Given the description of an element on the screen output the (x, y) to click on. 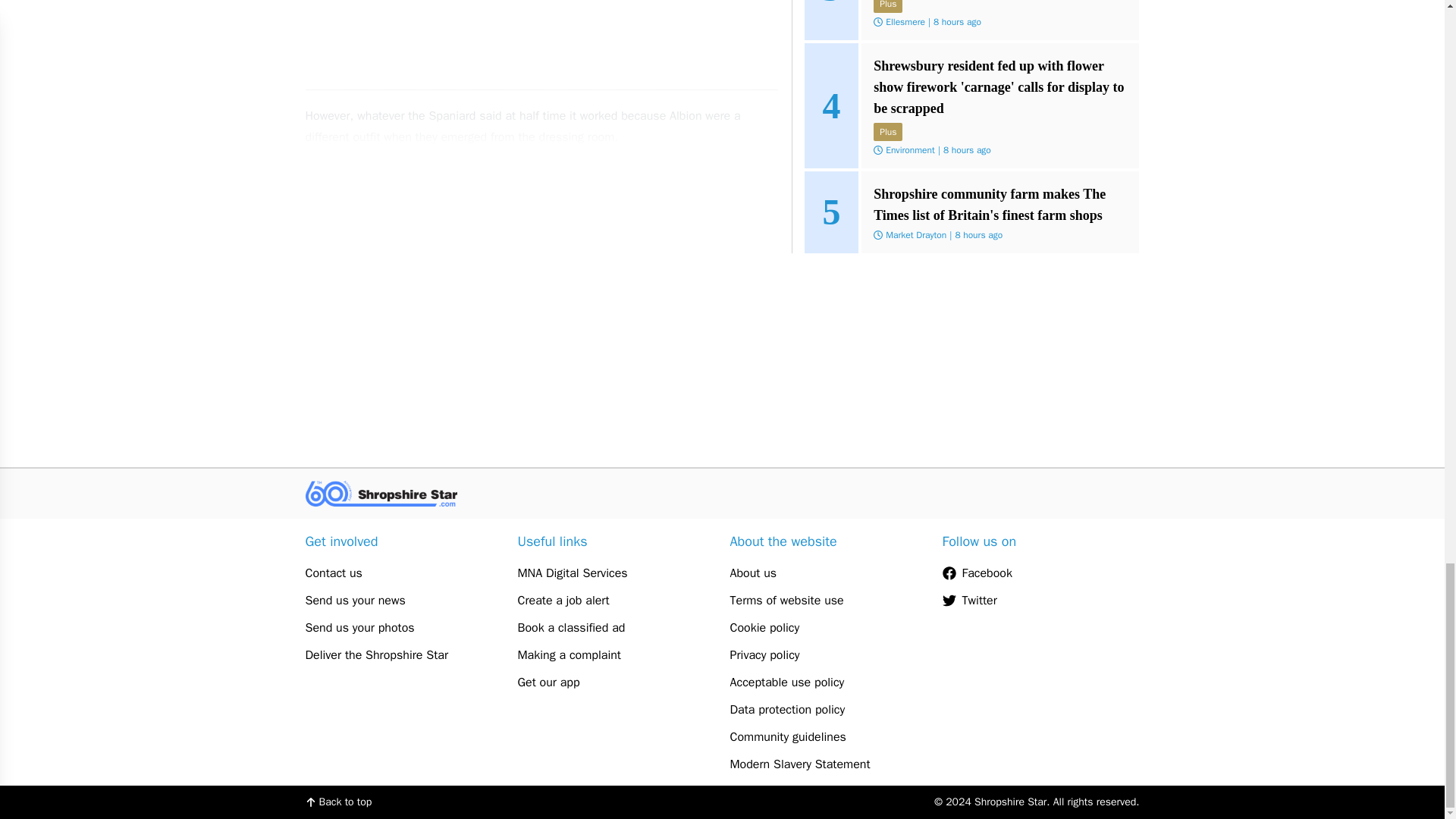
Ellesmere (904, 21)
Market Drayton (915, 234)
Environment (909, 150)
